Given the description of an element on the screen output the (x, y) to click on. 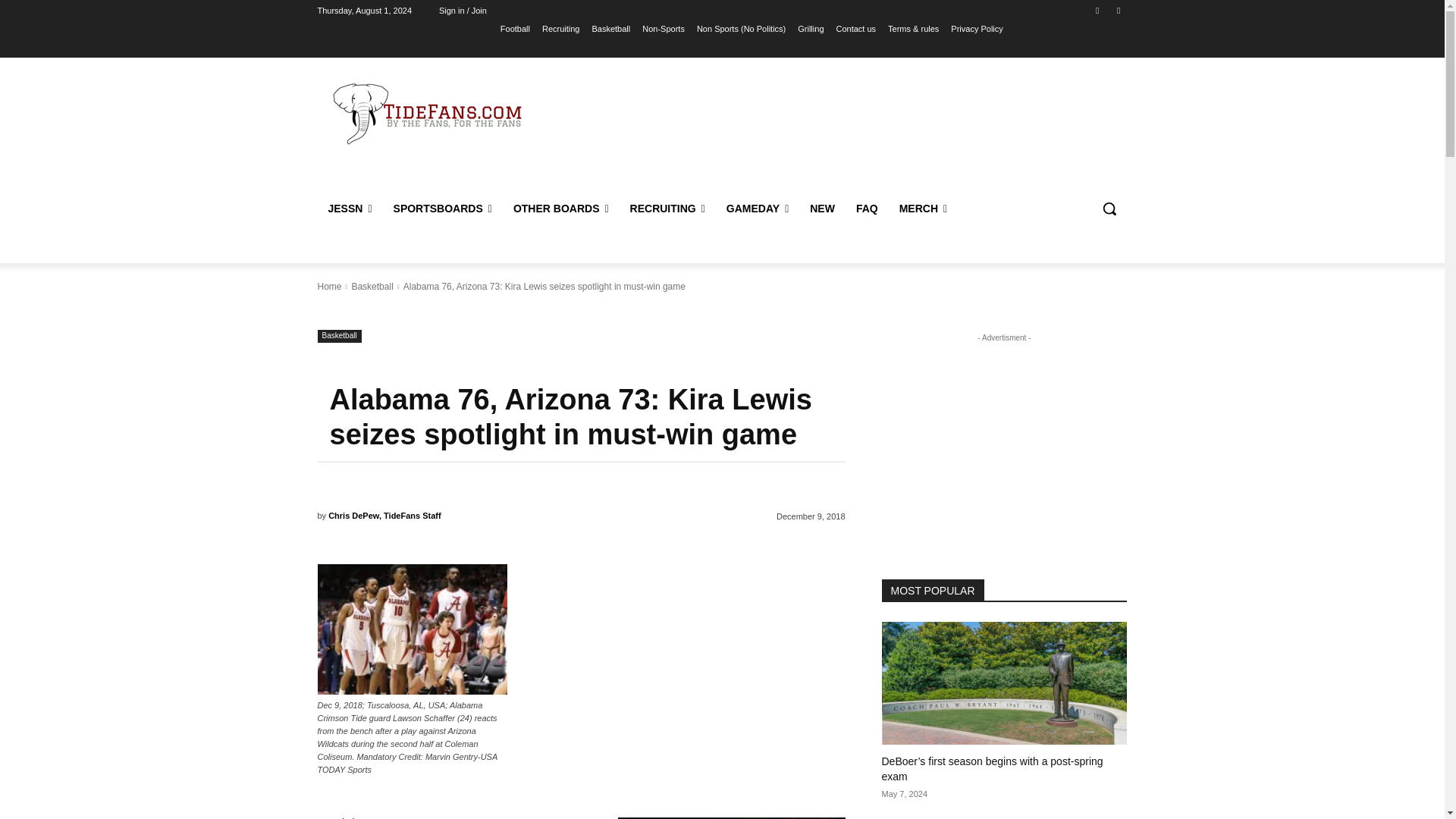
Facebook (1097, 9)
View all posts in Basketball (371, 286)
Twitter (1117, 9)
